Given the description of an element on the screen output the (x, y) to click on. 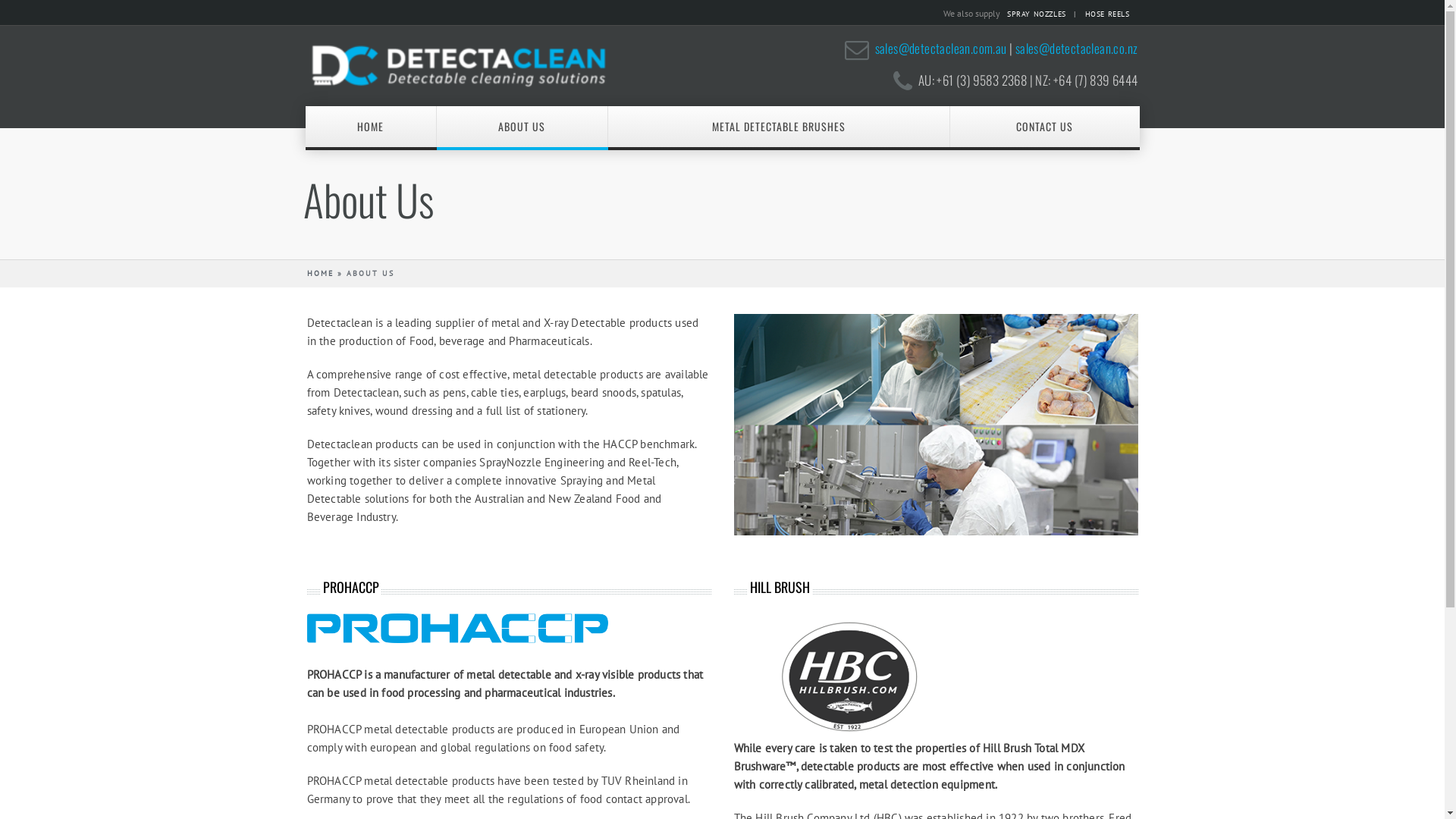
sales@detectaclean.com.au Element type: text (941, 47)
METAL DETECTABLE BRUSHES Element type: text (779, 126)
SPRAY NOZZLES Element type: text (1041, 13)
hillbrush logo Element type: hover (848, 676)
prohaccp Element type: hover (456, 628)
ABOUT US Element type: text (522, 126)
sales@detectaclean.co.nz Element type: text (1076, 47)
HOME Element type: text (319, 273)
HOME Element type: text (370, 126)
HOSE REELS Element type: text (1110, 13)
CONTACT US Element type: text (1044, 126)
COLLAGE Element type: hover (936, 424)
